Given the description of an element on the screen output the (x, y) to click on. 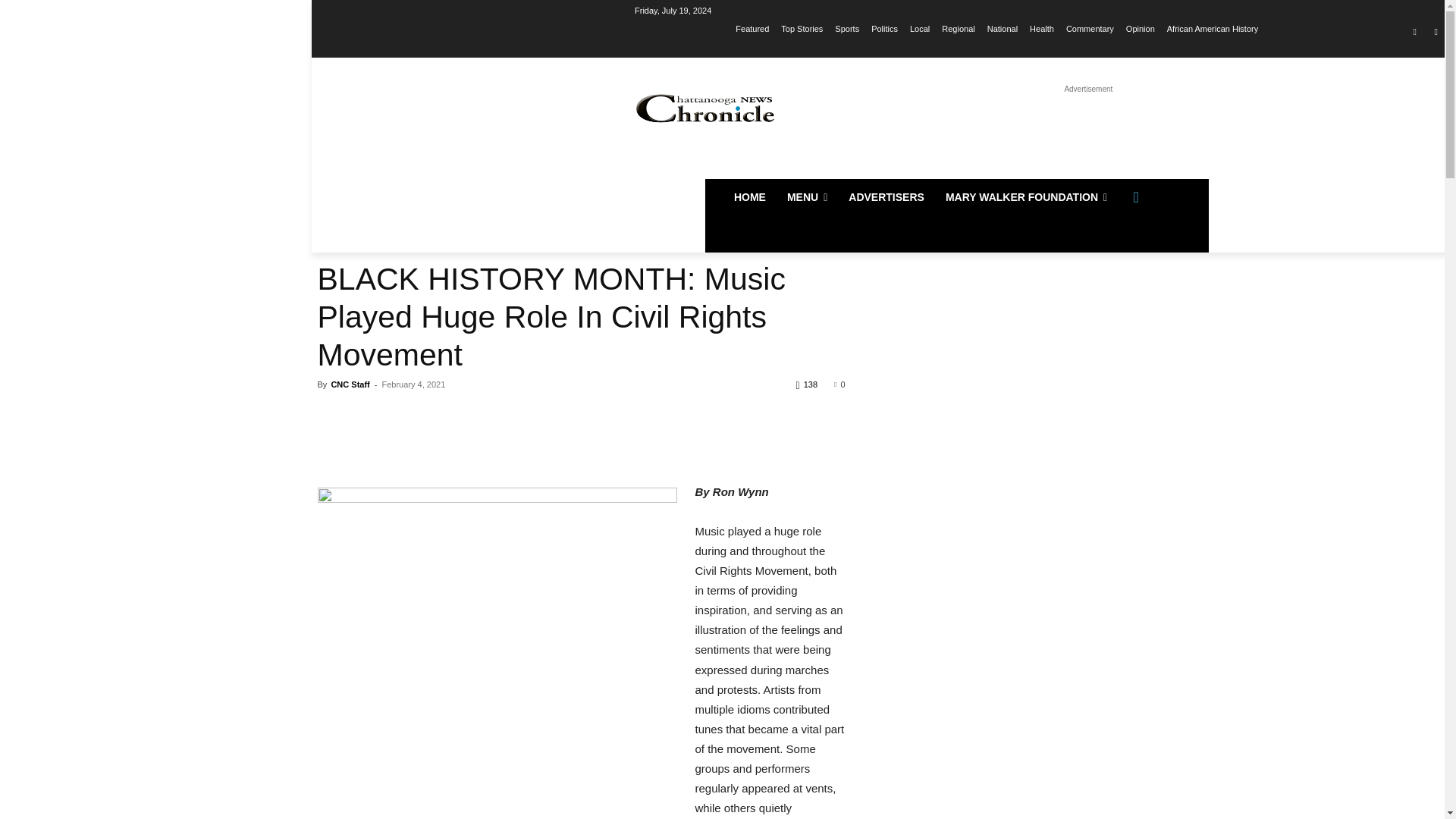
Top Stories (801, 28)
Featured (751, 28)
African American History (1212, 28)
HOME (749, 197)
Commentary (1089, 28)
Sports (846, 28)
Health (1041, 28)
National (1002, 28)
Facebook (1414, 31)
Politics (884, 28)
Local (920, 28)
Opinion (1139, 28)
MENU (807, 197)
Regional (958, 28)
